Given the description of an element on the screen output the (x, y) to click on. 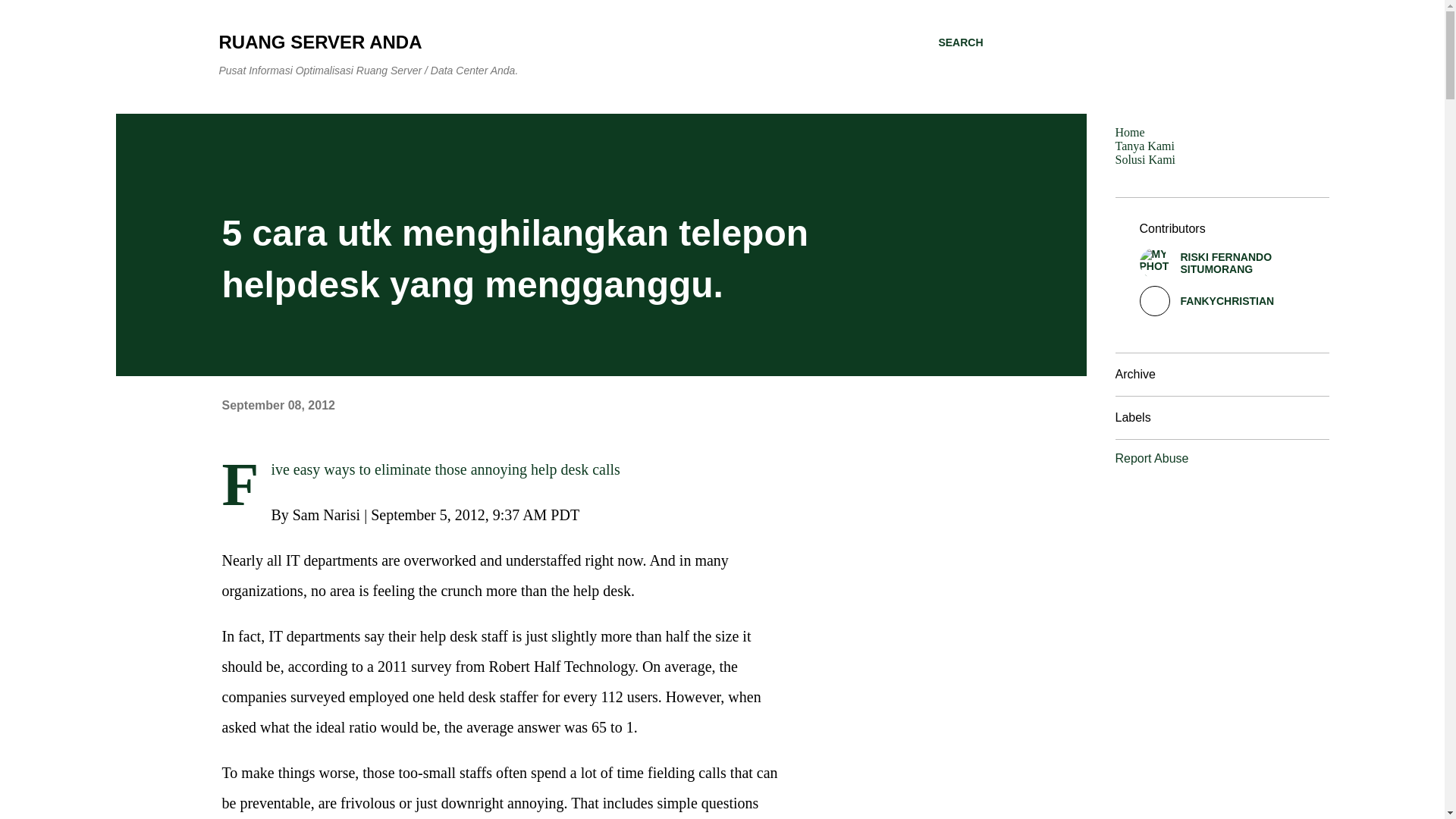
September 08, 2012 (277, 404)
RUANG SERVER ANDA (320, 41)
SEARCH (959, 42)
permanent link (277, 404)
